Given the description of an element on the screen output the (x, y) to click on. 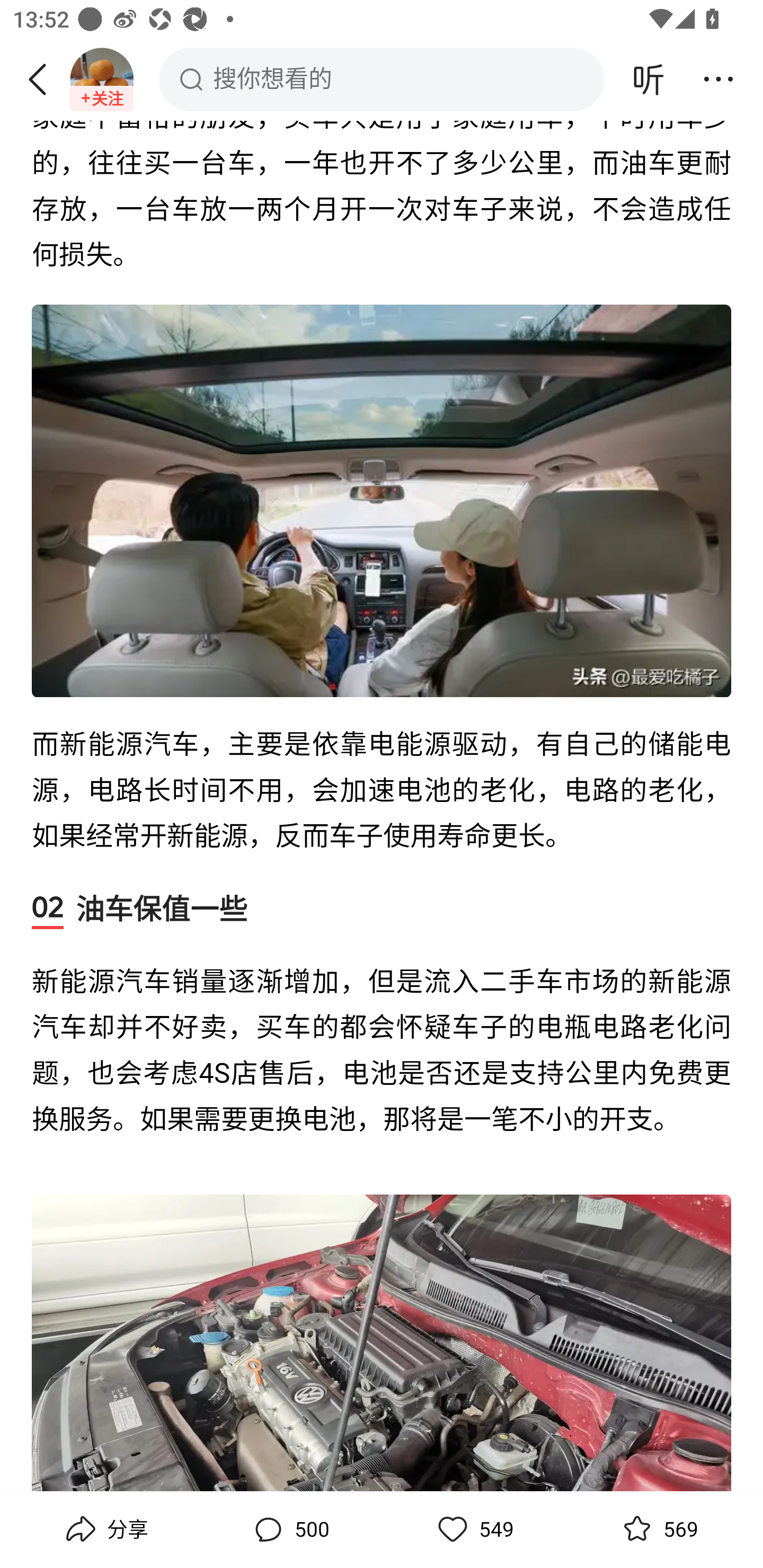
返回 (44, 78)
听头条 (648, 78)
更多操作 (718, 78)
最爱吃橘子头像 (101, 79)
搜你想看的 搜索框，搜你想看的 (381, 79)
icon关注 (101, 98)
图片，点击识别内容 (381, 500)
图片，点击识别内容 (381, 1342)
分享 (104, 1529)
评论,500 500 (288, 1529)
收藏,569 569 (658, 1529)
